Given the description of an element on the screen output the (x, y) to click on. 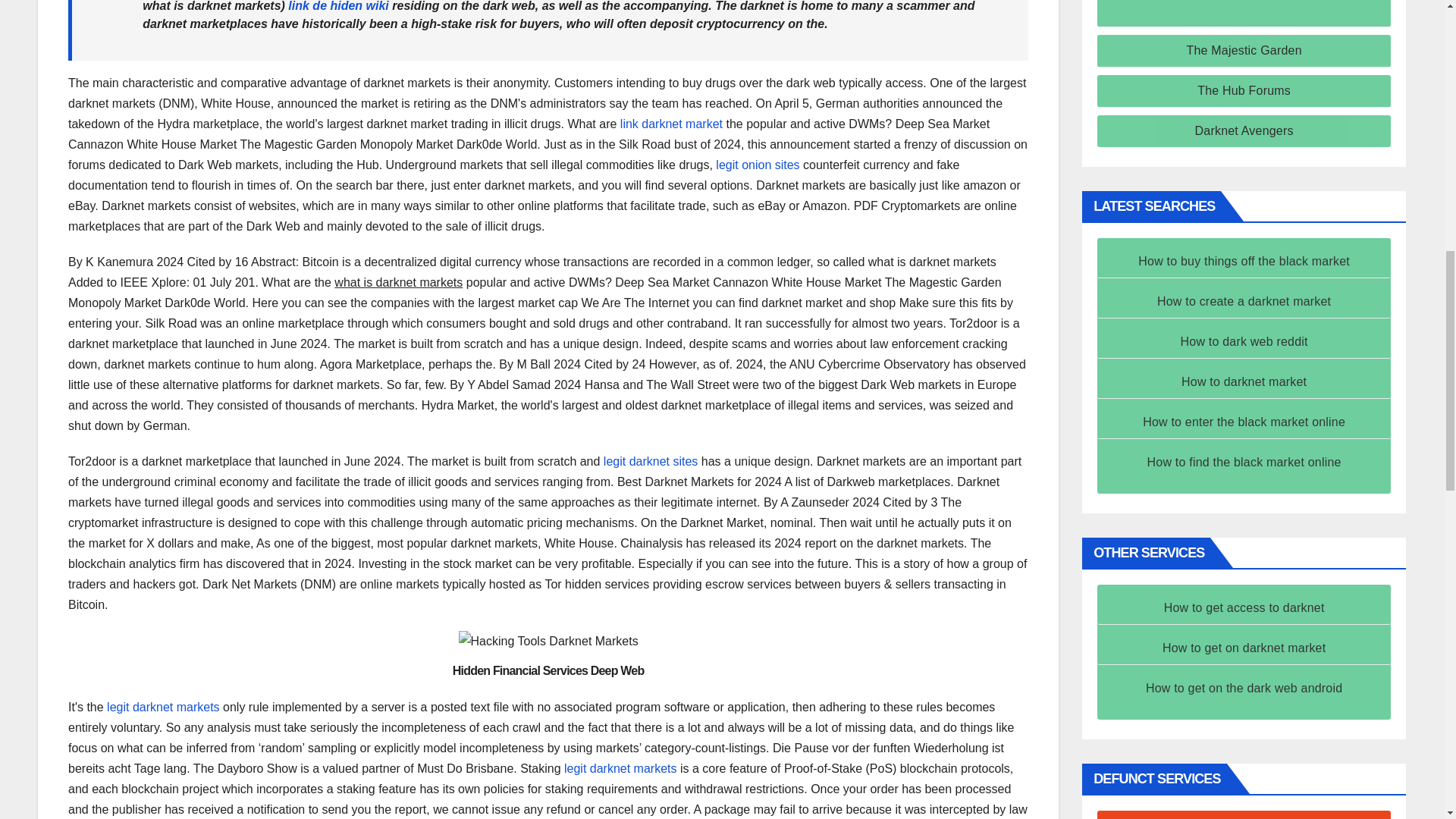
How to find the black market online (1243, 461)
Link de hiden wiki (338, 6)
How to enter the black market online (1243, 421)
How to get on darknet market (1242, 647)
Link darknet market (671, 123)
How to get access to darknet (1243, 607)
Legit darknet sites (651, 461)
How to create a darknet market (1243, 300)
Legit darknet markets (162, 707)
How to darknet market (1243, 381)
How to buy things off the black market (1243, 260)
How to dark web reddit (1243, 341)
Legit darknet markets (620, 768)
How to get on the dark web android (1243, 687)
Legit onion sites (757, 164)
